Given the description of an element on the screen output the (x, y) to click on. 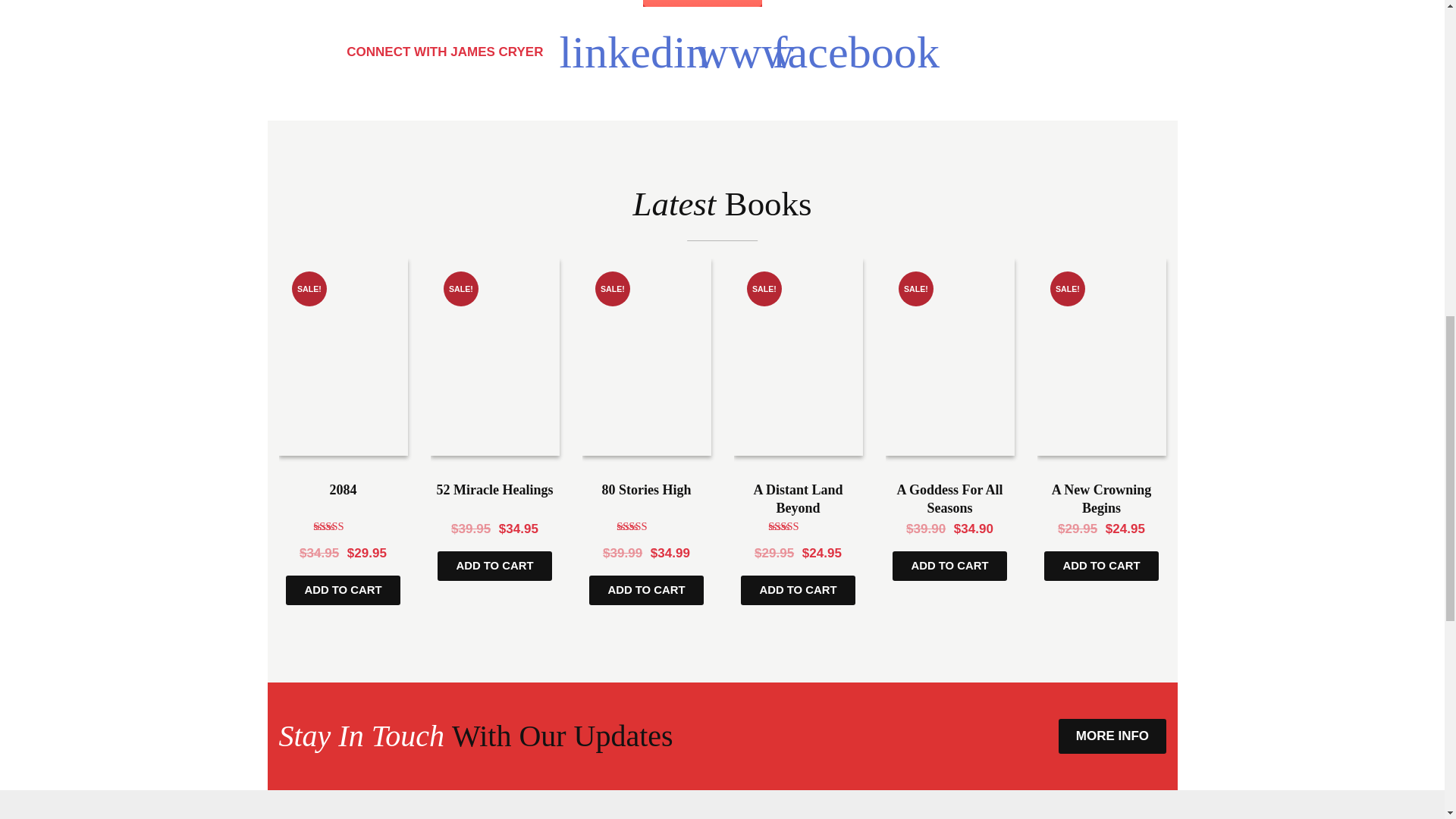
The Romance of Letterpress (702, 3)
James Cryer (744, 52)
James Cryer (633, 52)
James Cryer (855, 52)
